Given the description of an element on the screen output the (x, y) to click on. 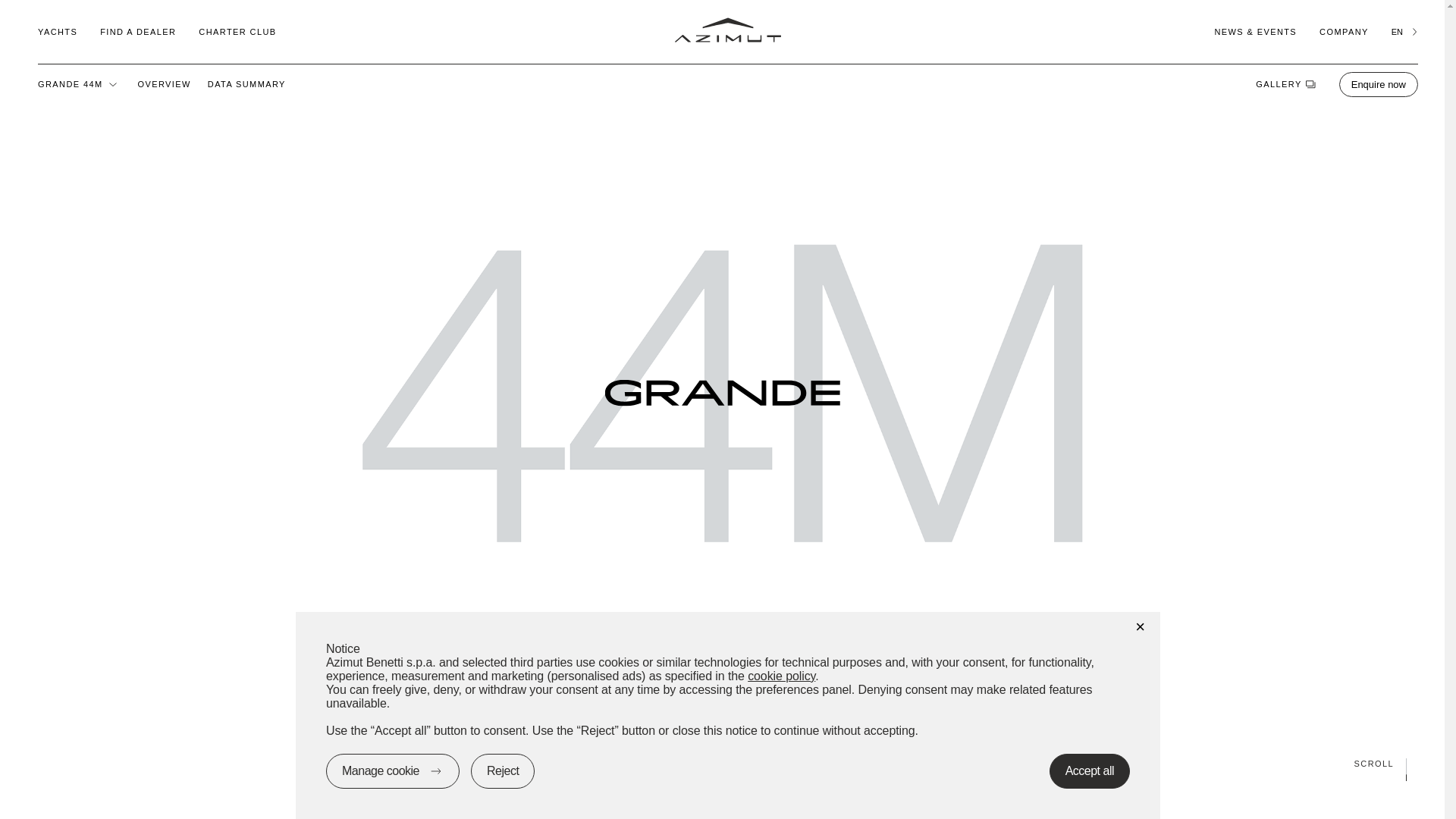
SCROLL (722, 763)
OVERVIEW (164, 83)
DATA SUMMARY (246, 83)
Enquire now (1378, 83)
YACHTS (57, 31)
COMPANY (1343, 31)
EN (1404, 31)
FIND A DEALER (138, 31)
CHARTER CLUB (237, 31)
